Given the description of an element on the screen output the (x, y) to click on. 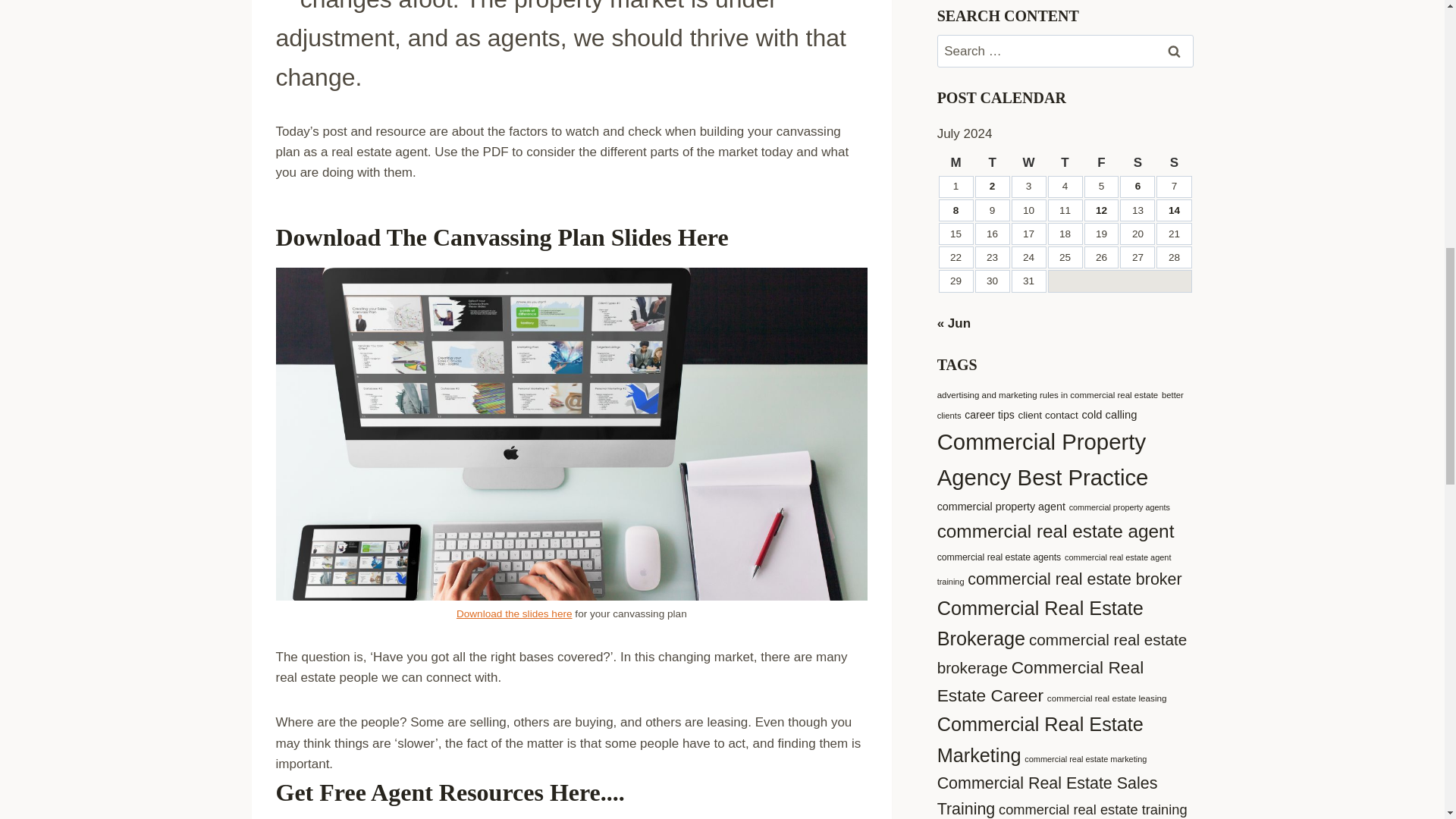
Download the slides here (514, 613)
Saturday (1136, 162)
Thursday (1065, 162)
Friday (1101, 162)
Monday (956, 162)
Sunday (1173, 162)
Wednesday (1028, 162)
Search (1174, 51)
Search (1174, 51)
Tuesday (992, 162)
